Given the description of an element on the screen output the (x, y) to click on. 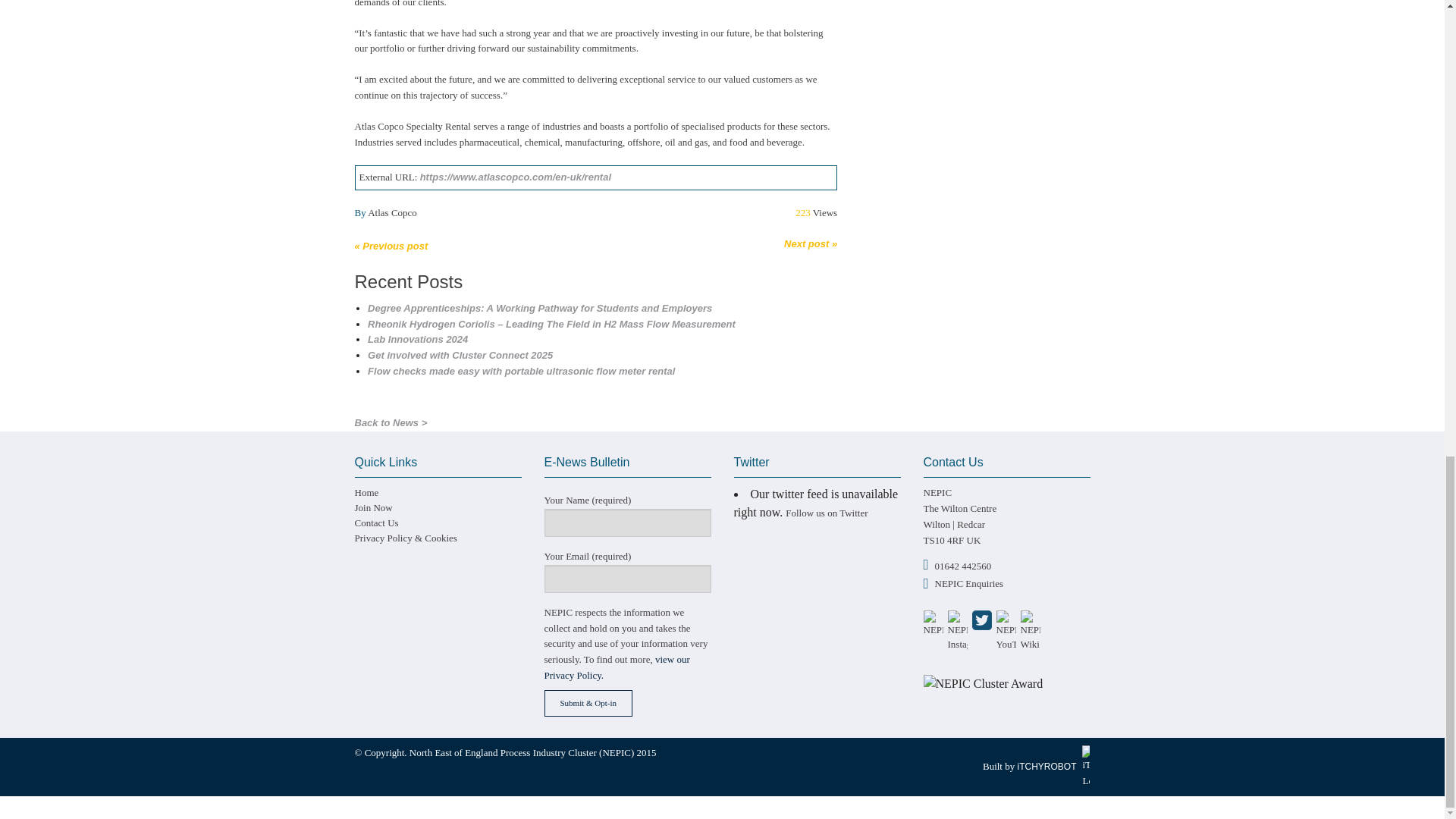
Applications are open - Yorkshire Three Peaks Challenge (810, 243)
Get involved with Cluster Connect 2025 (460, 355)
Lab Innovations 2024 (417, 338)
